Given the description of an element on the screen output the (x, y) to click on. 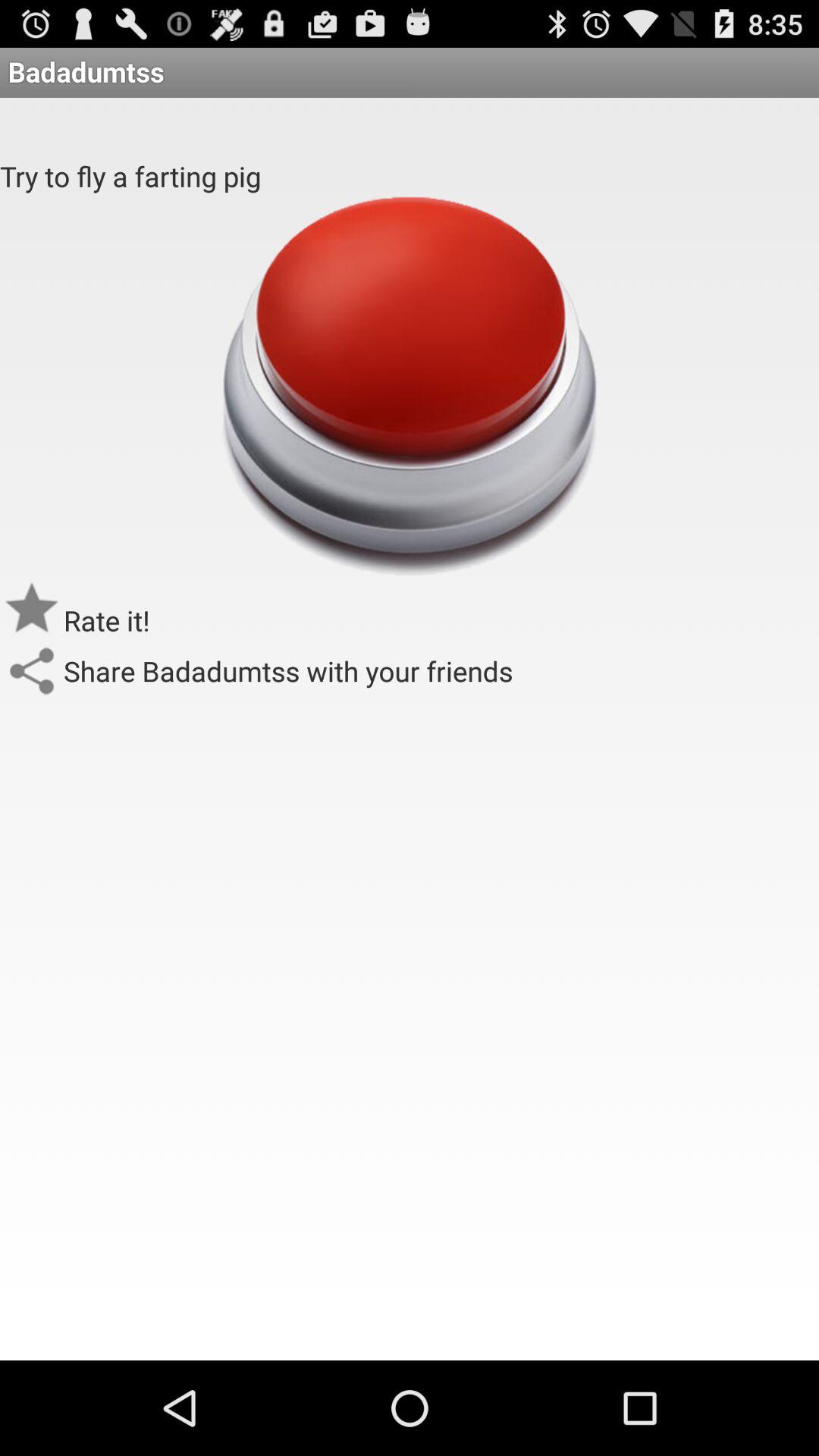
flip until rate it! icon (106, 620)
